Given the description of an element on the screen output the (x, y) to click on. 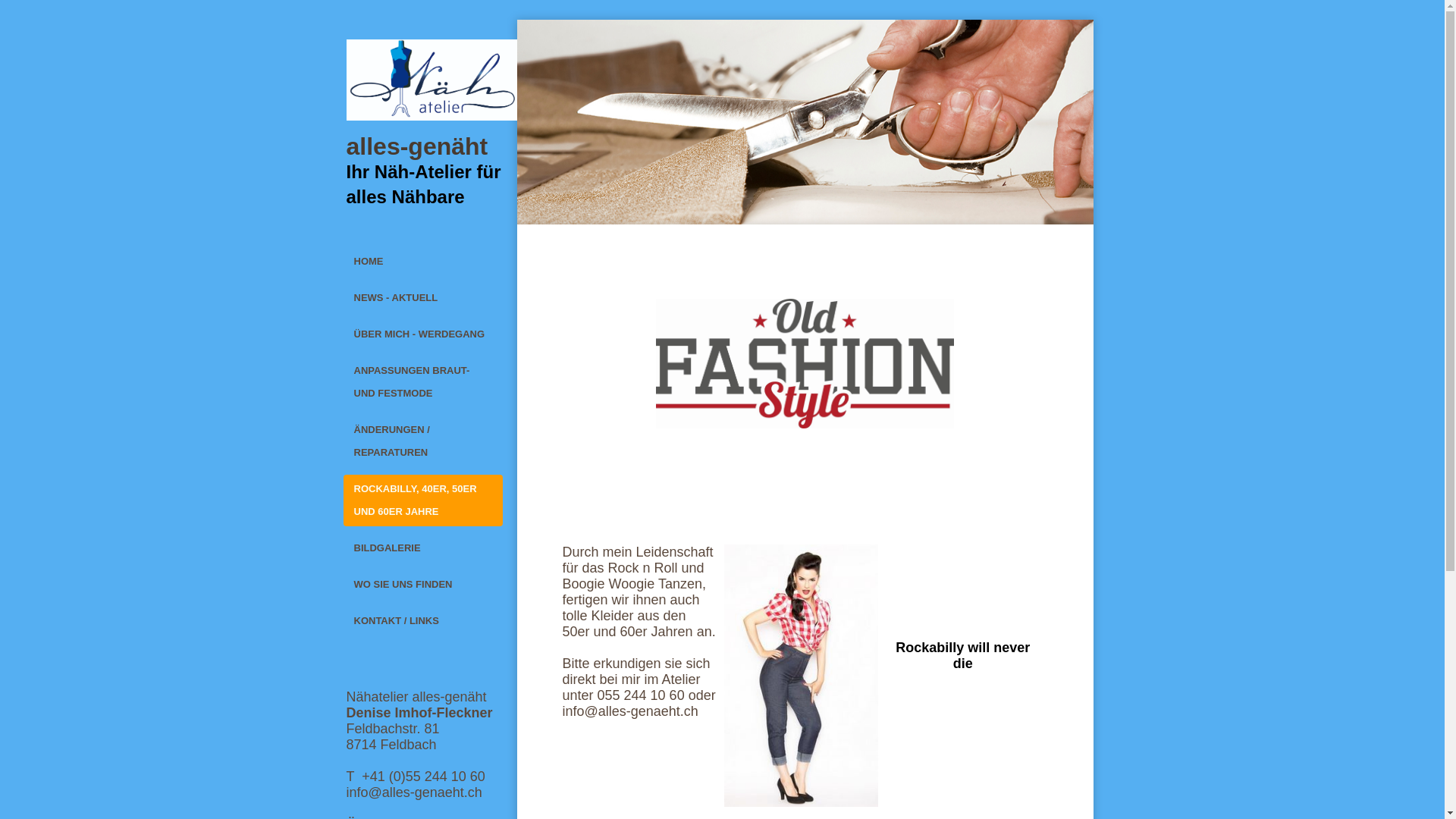
WO SIE UNS FINDEN Element type: text (422, 584)
ANPASSUNGEN BRAUT- UND FESTMODE Element type: text (422, 381)
KONTAKT / LINKS Element type: text (422, 620)
ROCKABILLY, 40ER, 50ER UND 60ER JAHRE Element type: text (422, 500)
info@alles-genaeht.ch Element type: text (413, 792)
BILDGALERIE Element type: text (422, 547)
NEWS - AKTUELL Element type: text (422, 297)
HOME Element type: text (422, 261)
